Given the description of an element on the screen output the (x, y) to click on. 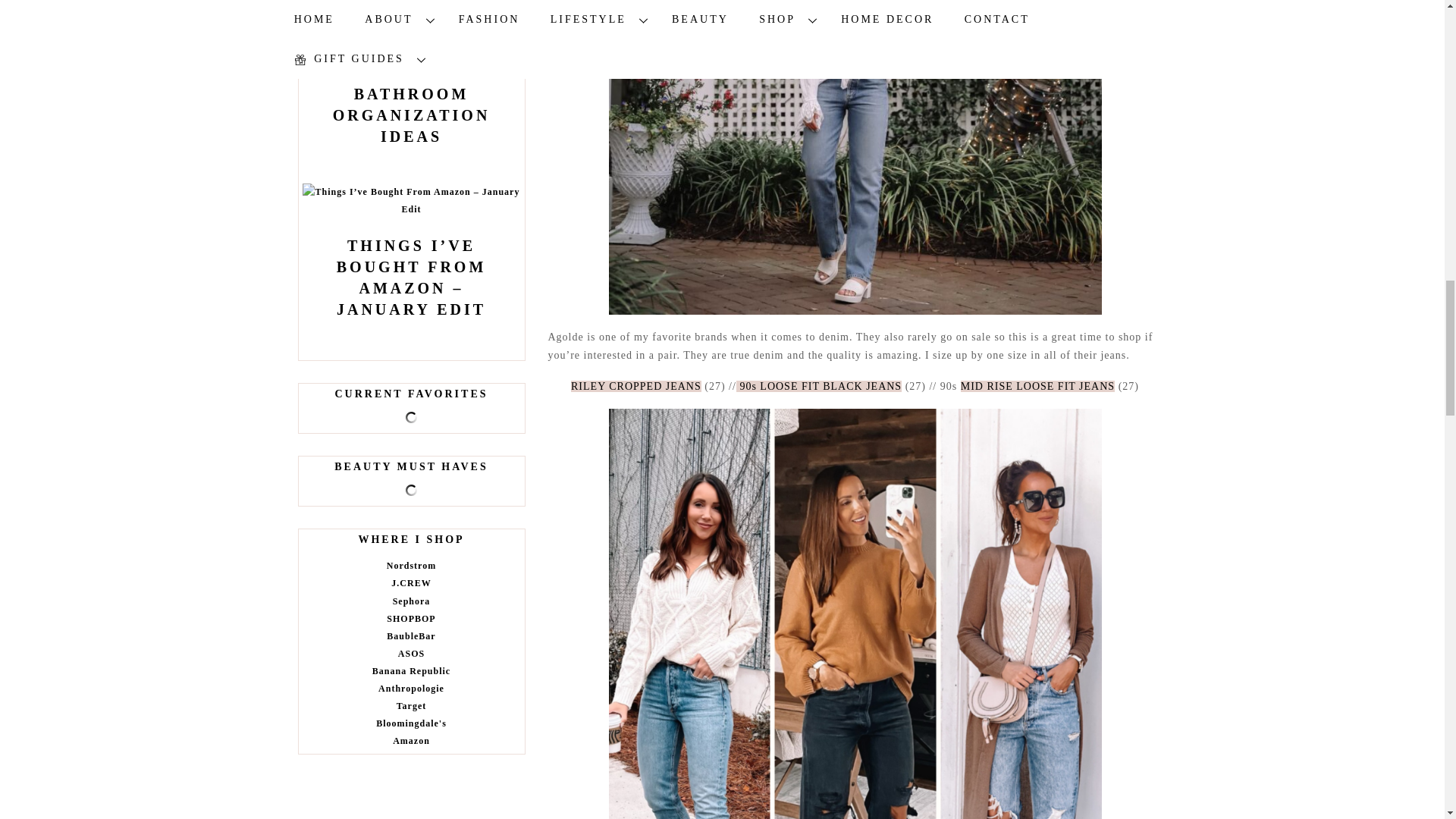
RILEY CROPPED JEANS (635, 386)
MID RISE LOOSE FIT JEANS (1037, 386)
90s LOOSE FIT BLACK JEANS (818, 386)
